Given the description of an element on the screen output the (x, y) to click on. 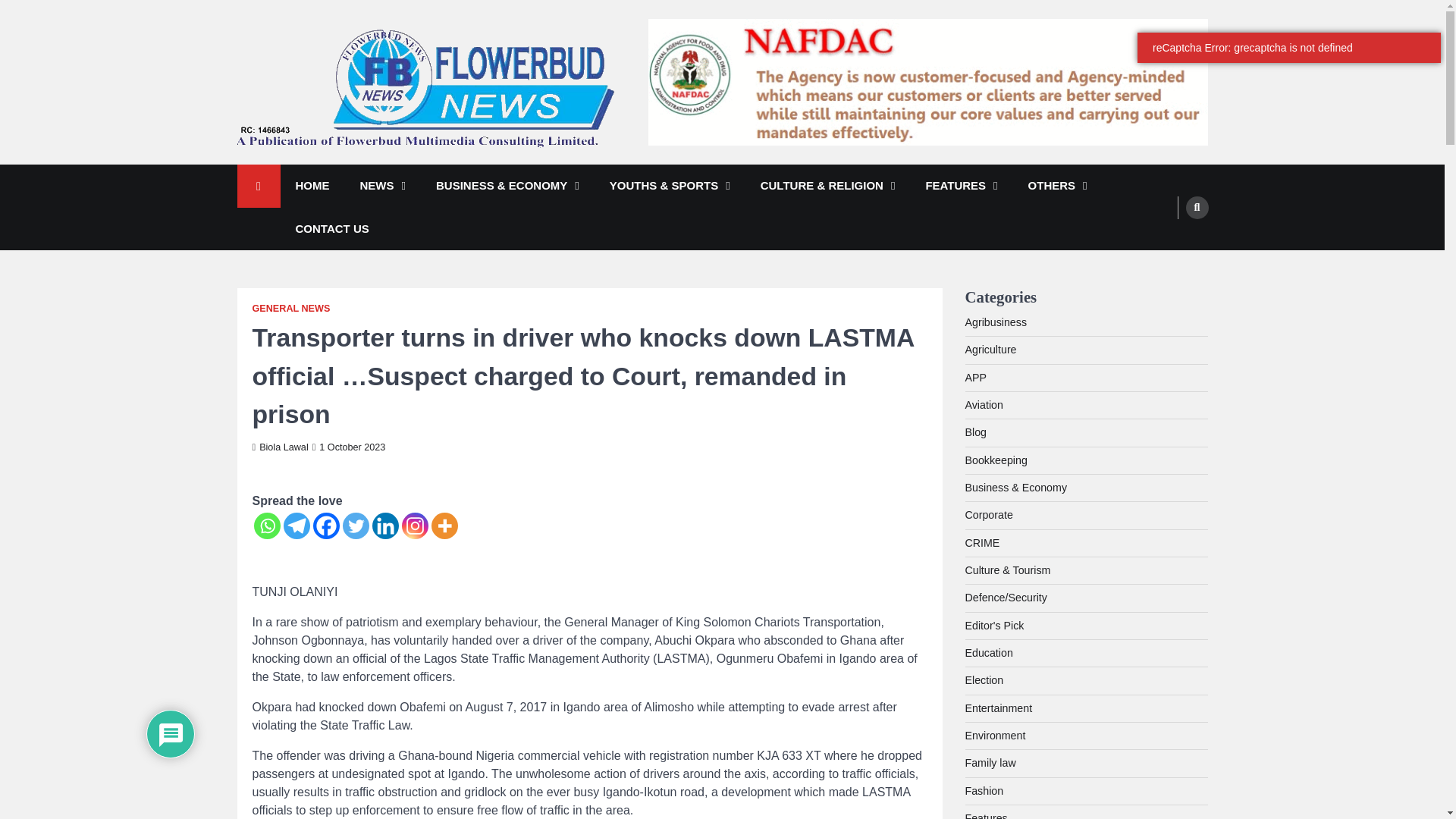
Telegram (296, 525)
Whatsapp (266, 525)
Search (1197, 206)
More (443, 525)
NEWS (381, 186)
HOME (313, 186)
Instagram (414, 525)
Facebook (326, 525)
FEATURES (960, 186)
Twitter (355, 525)
Linkedin (384, 525)
flowerbudnews.ng (335, 168)
OTHERS (1057, 186)
